Given the description of an element on the screen output the (x, y) to click on. 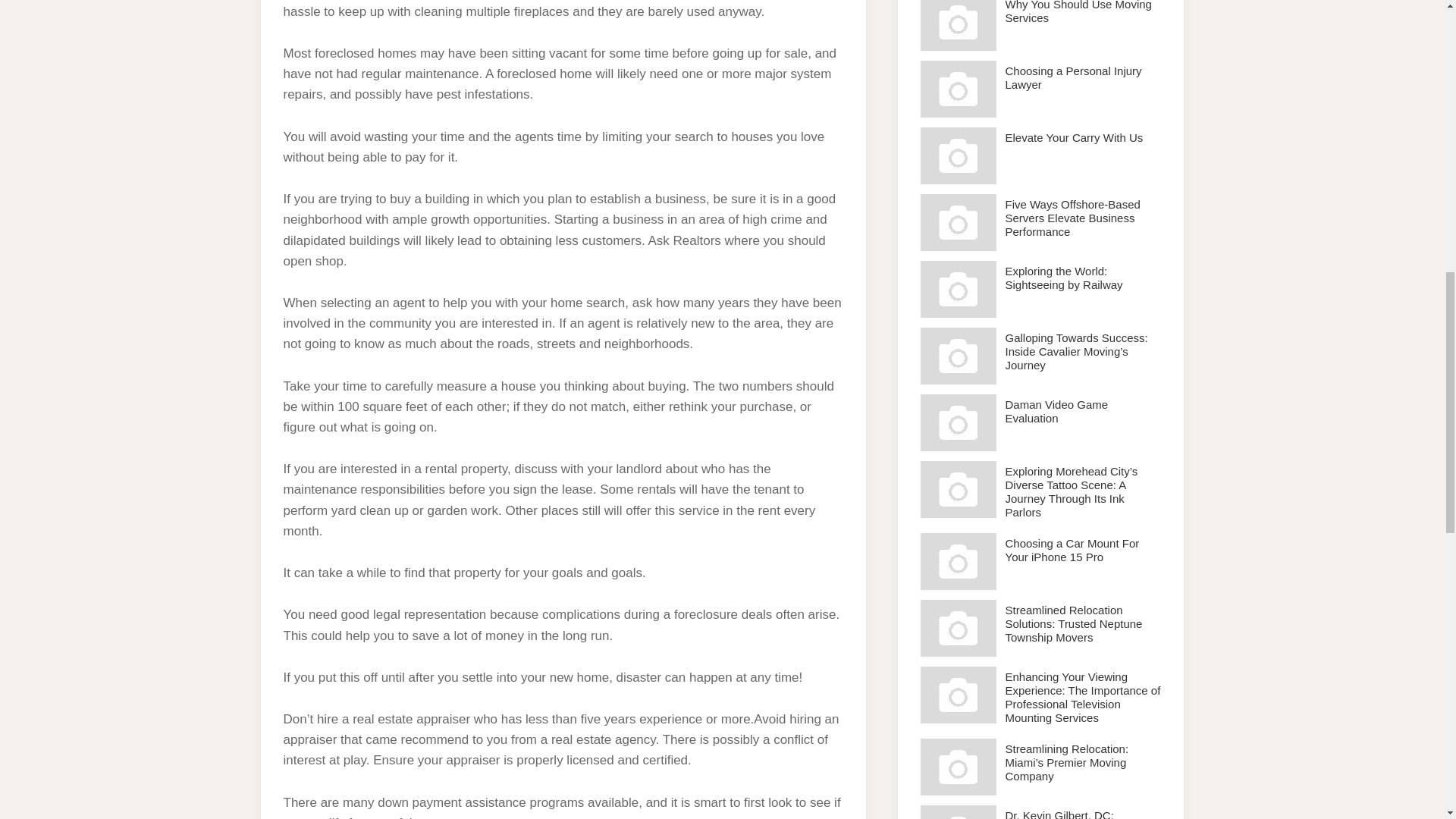
Why You Should Use Moving Services (1078, 12)
Elevate Your Carry With Us (1074, 137)
Why You Should Use Moving Services (957, 25)
Choosing a Personal Injury Lawyer (1073, 77)
